Given the description of an element on the screen output the (x, y) to click on. 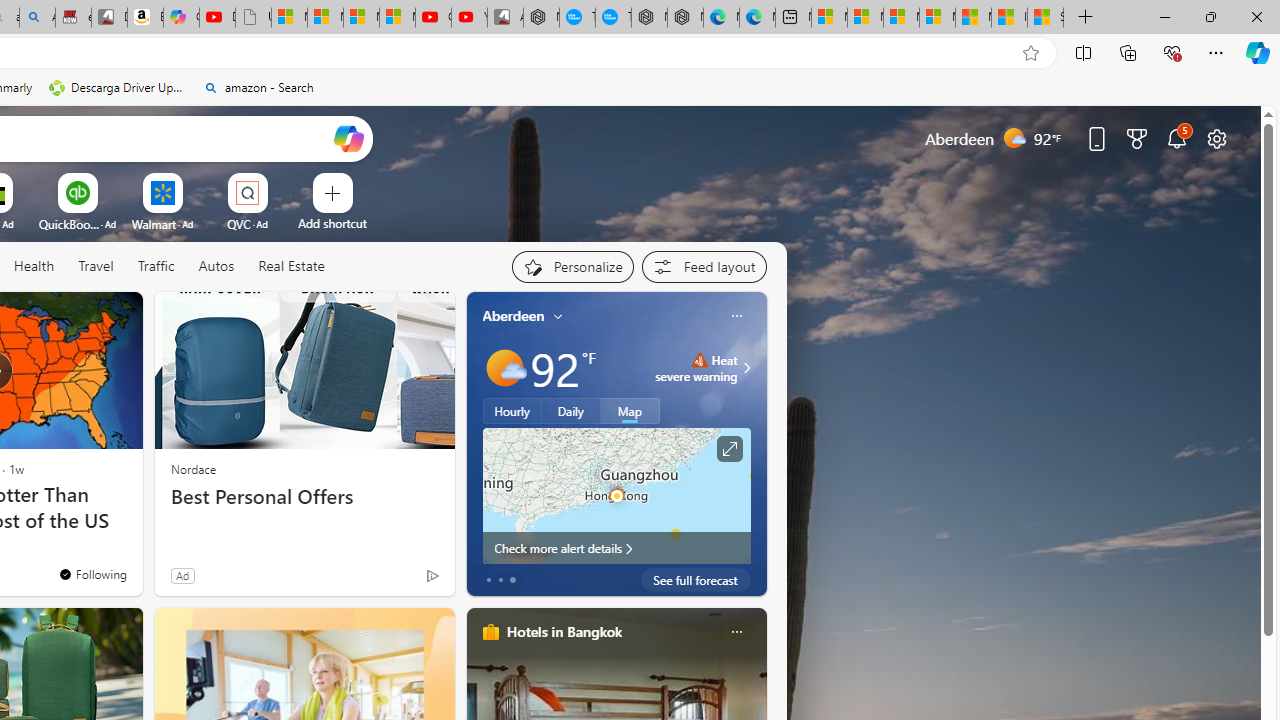
amazon - Search (258, 88)
Collections (1128, 52)
Autos (215, 265)
Personalize your feed" (571, 266)
My location (558, 315)
Close (1256, 16)
Heat - Severe Heat severe warning (696, 367)
Ad (182, 575)
Copilot (180, 17)
The most popular Google 'how to' searches (613, 17)
Add a site (332, 223)
Real Estate (291, 265)
